Given the description of an element on the screen output the (x, y) to click on. 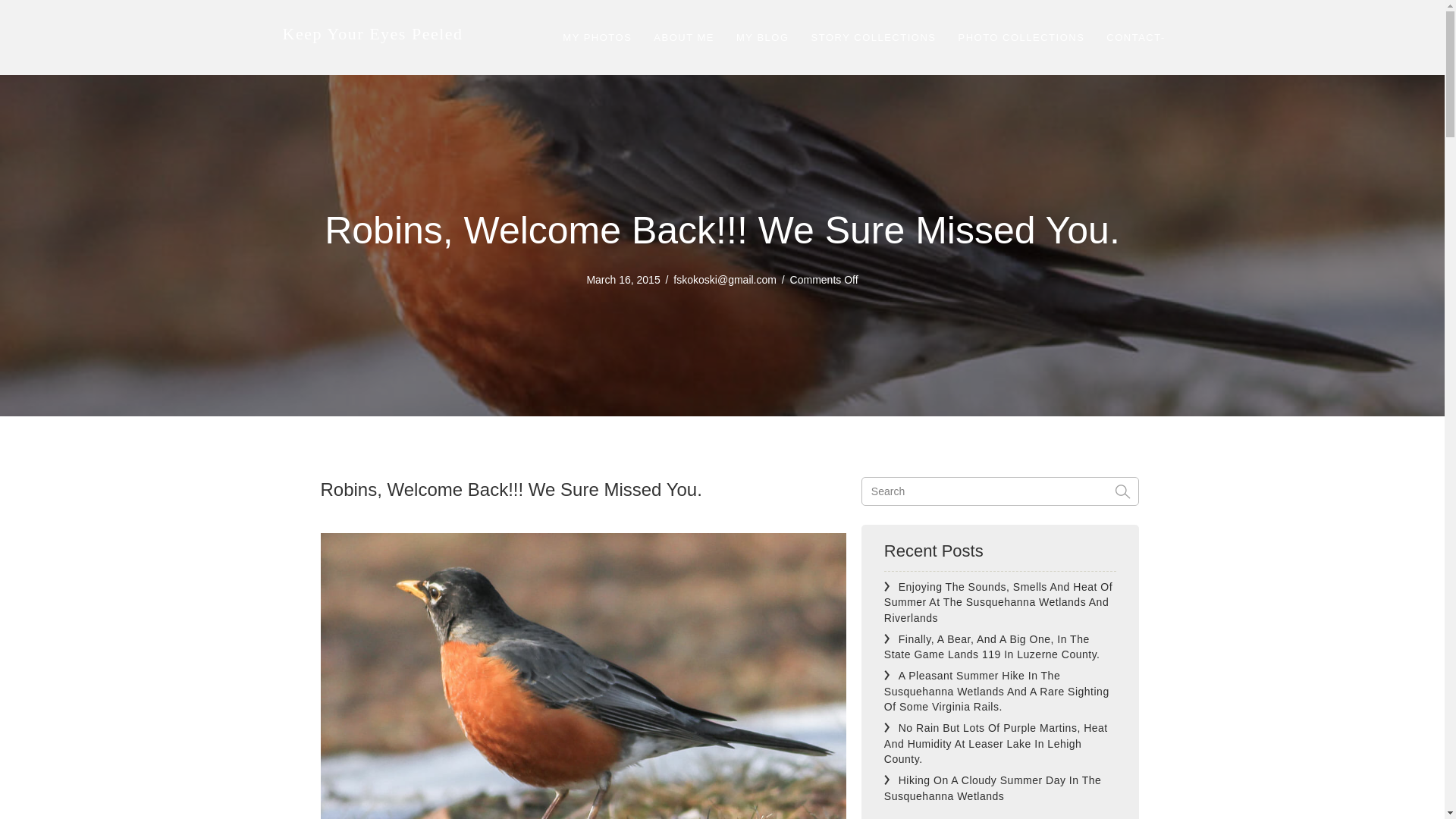
MY BLOG (762, 38)
MY PHOTOS (596, 38)
Keep Your Eyes Peeled (372, 33)
ABOUT ME (684, 38)
PHOTO COLLECTIONS (1020, 38)
Hiking On A Cloudy Summer Day In The Susquehanna Wetlands (991, 787)
Type and press Enter to search. (1000, 491)
STORY COLLECTIONS (873, 38)
CONTACT- (1135, 38)
Search (1000, 491)
Search (1000, 491)
